Given the description of an element on the screen output the (x, y) to click on. 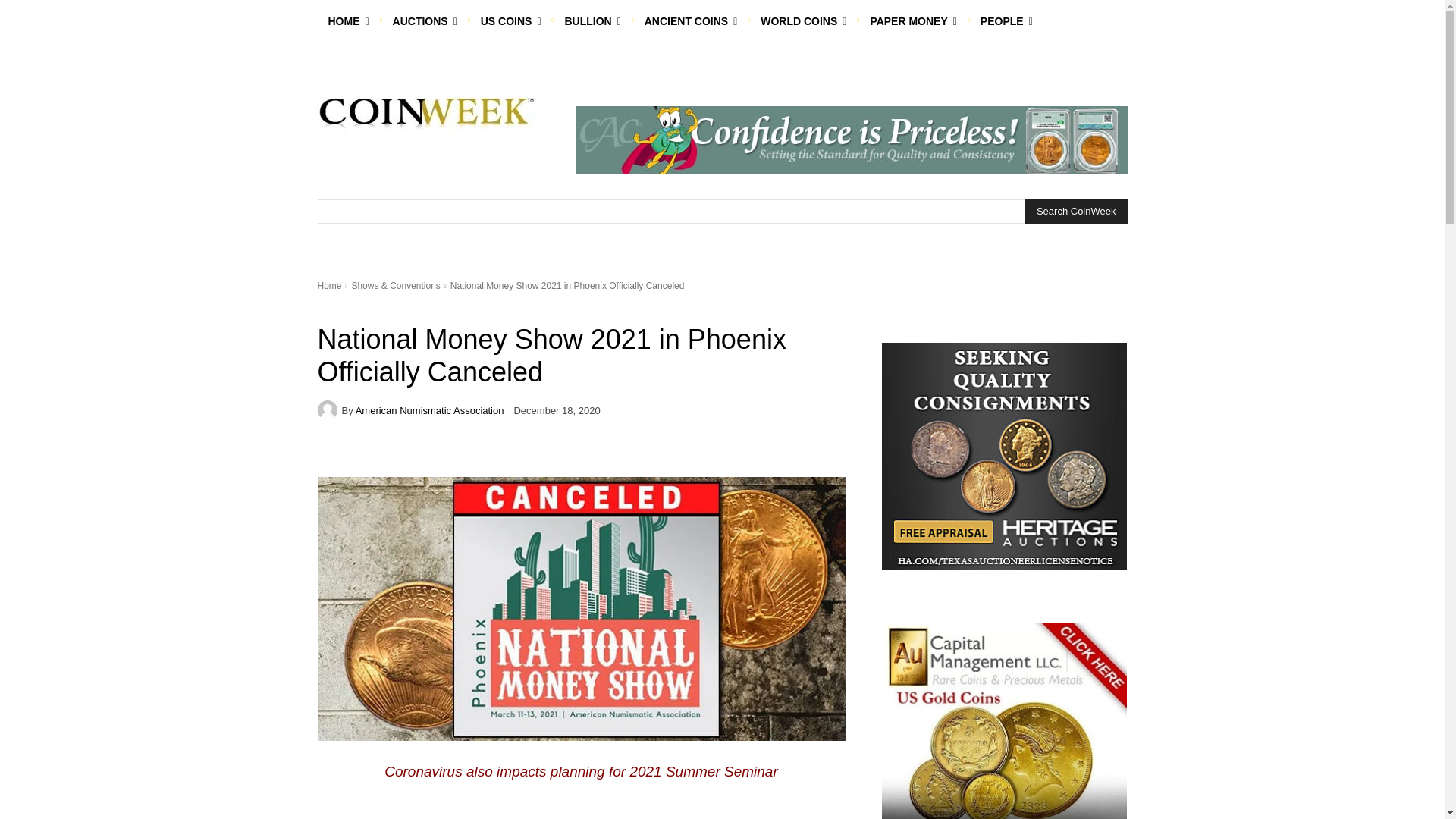
American Numismatic Association (328, 410)
AUCTIONS (424, 21)
HOME (347, 21)
